Given the description of an element on the screen output the (x, y) to click on. 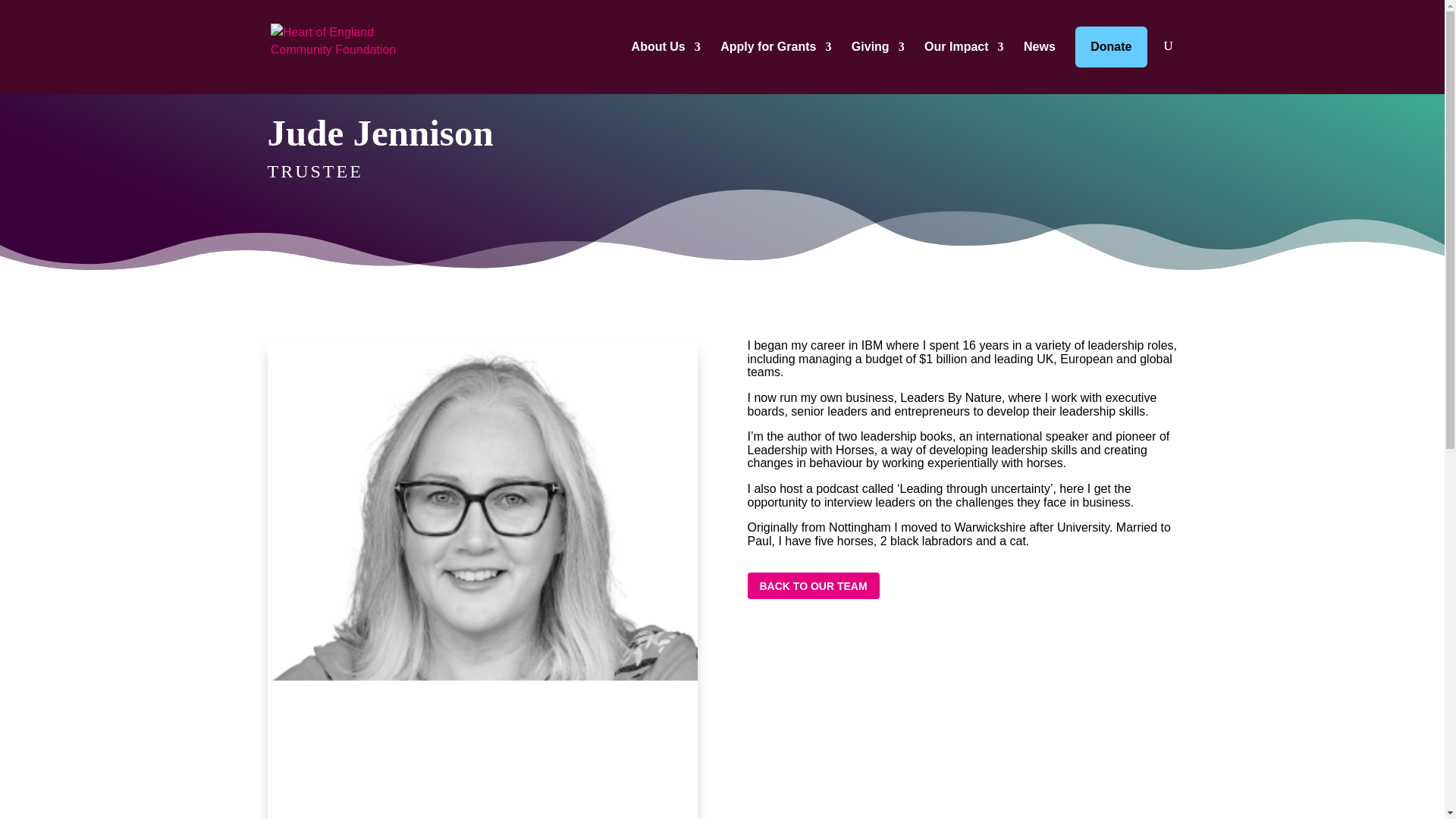
Giving (877, 46)
News (1039, 46)
Donate (1111, 46)
Our Impact (963, 46)
Apply for Grants (775, 46)
BACK TO OUR TEAM (813, 585)
About Us (665, 46)
